Given the description of an element on the screen output the (x, y) to click on. 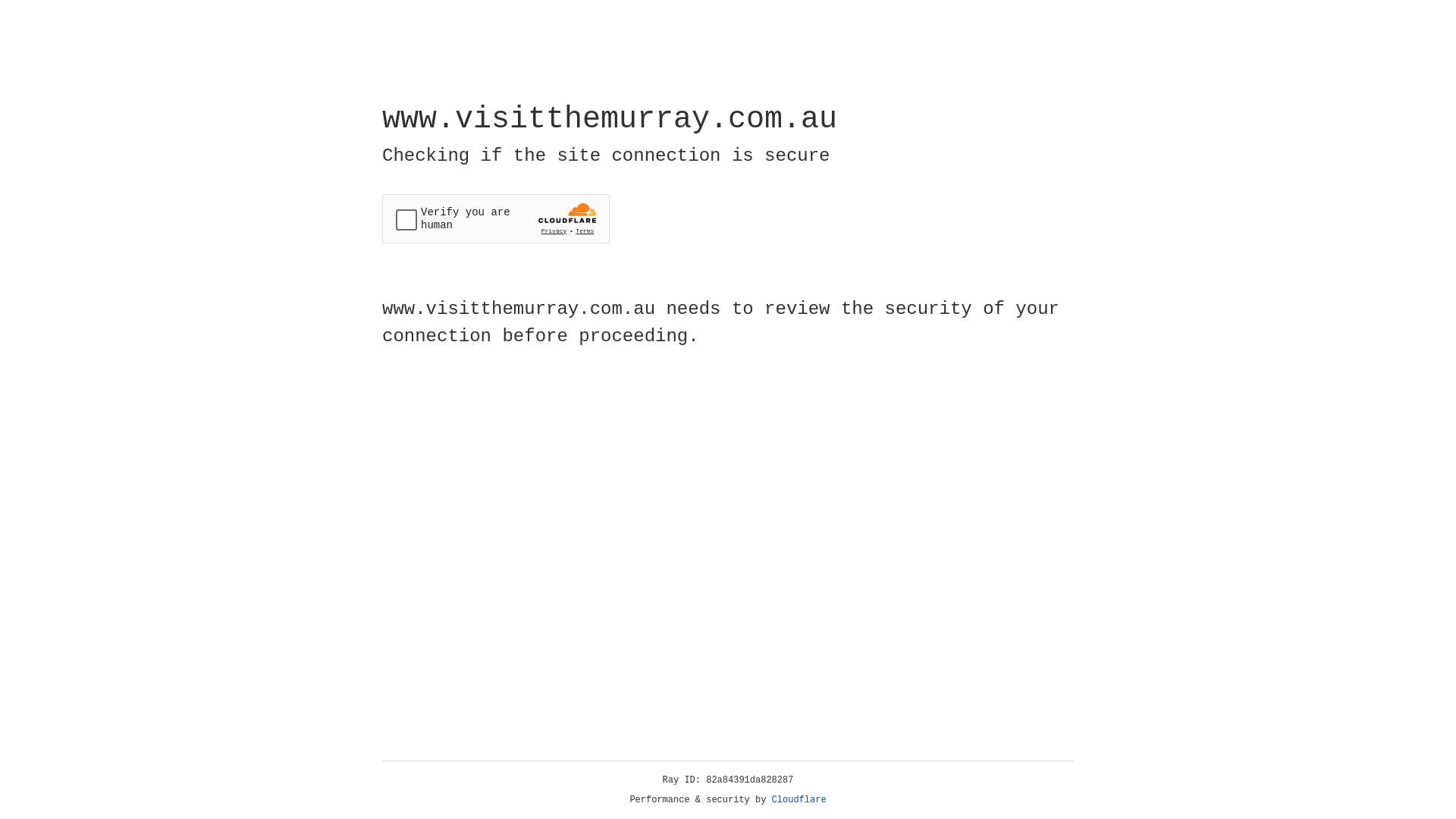
Cloudflare Element type: text (798, 799)
Widget containing a Cloudflare security challenge Element type: hover (495, 218)
